Given the description of an element on the screen output the (x, y) to click on. 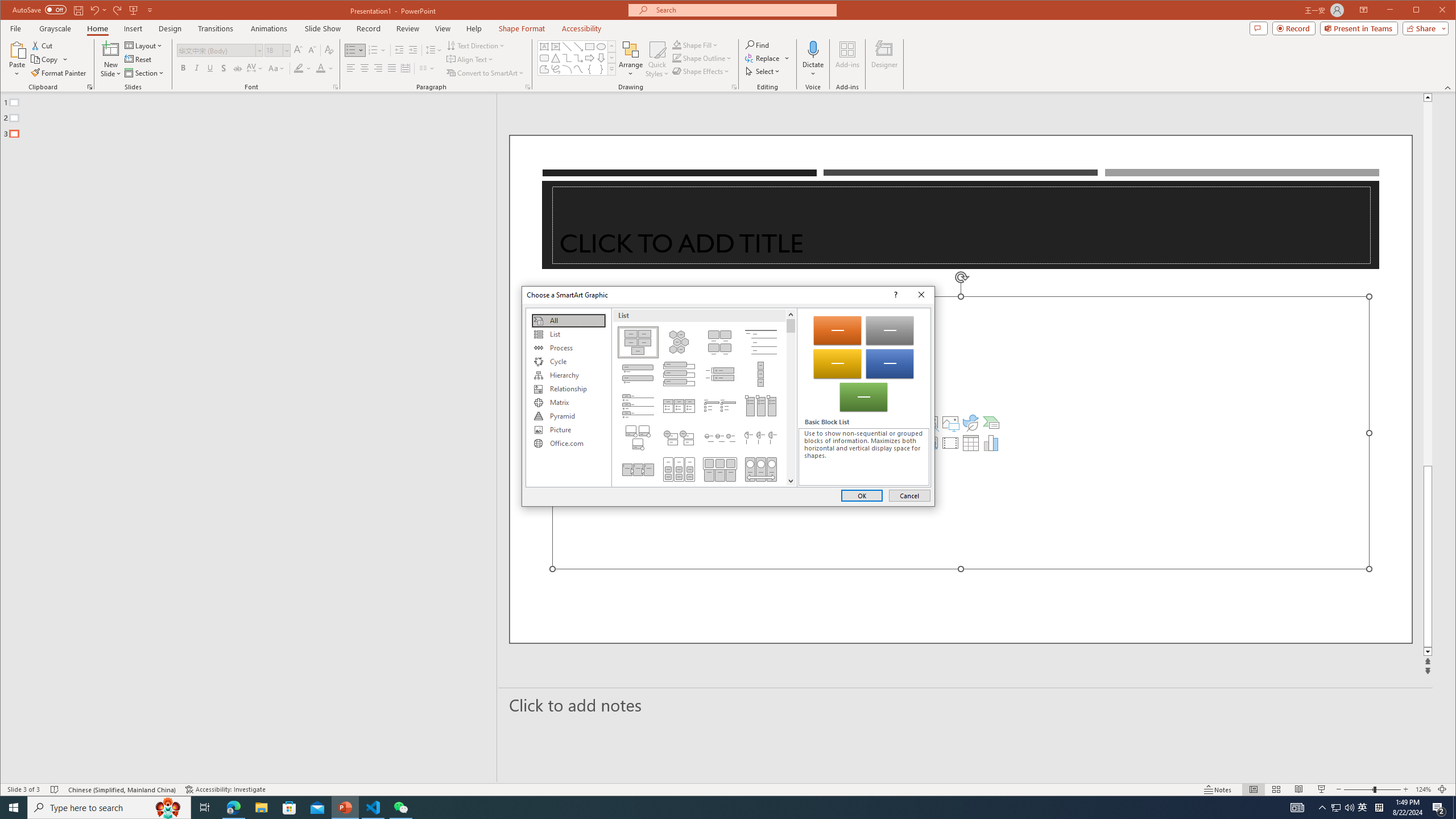
Pictures (949, 422)
